Given the description of an element on the screen output the (x, y) to click on. 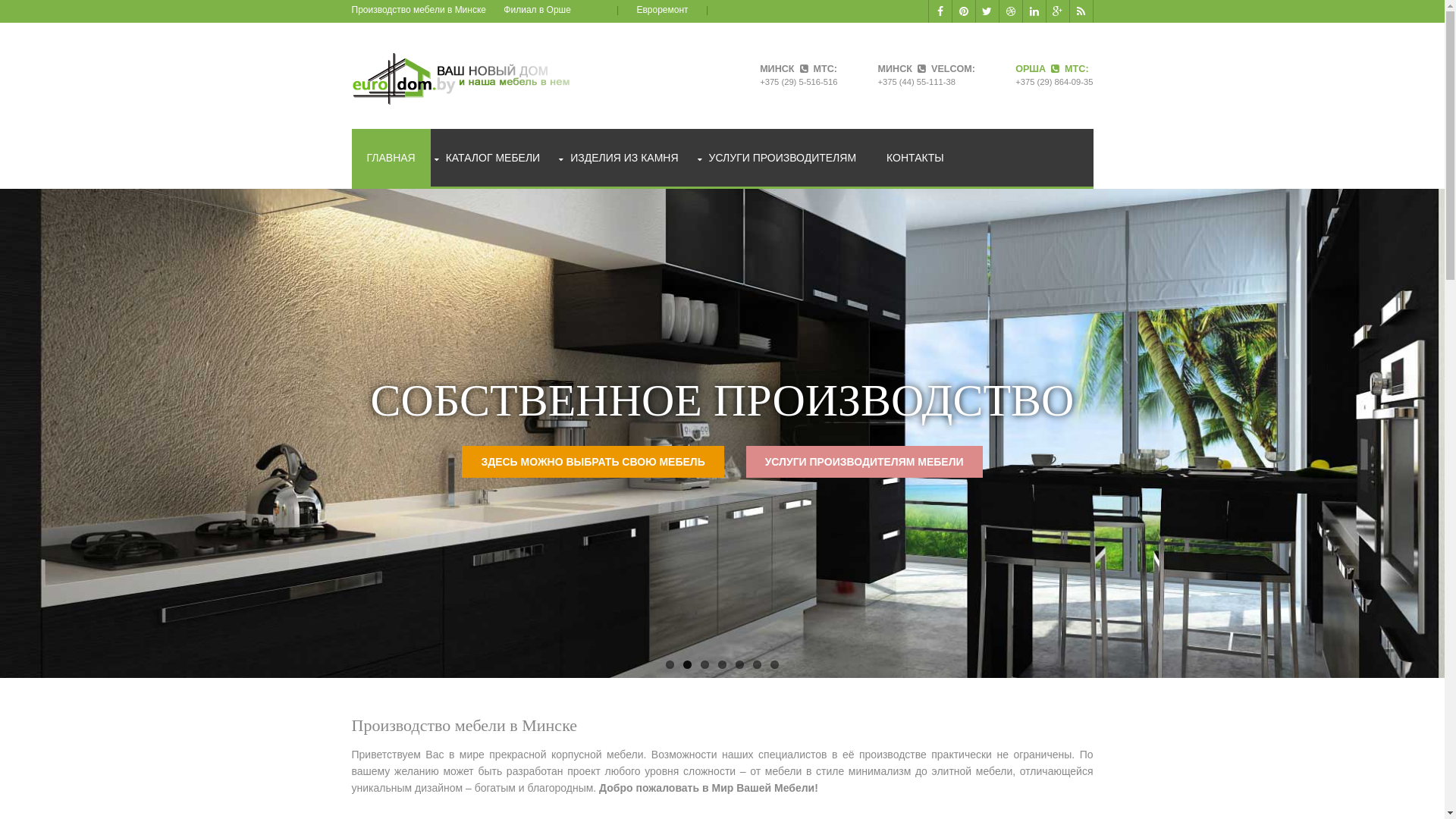
3 Element type: text (704, 664)
6 Element type: text (757, 664)
4 Element type: text (722, 664)
5 Element type: text (739, 664)
7 Element type: text (774, 664)
2 Element type: text (687, 664)
1 Element type: text (669, 664)
